Given the description of an element on the screen output the (x, y) to click on. 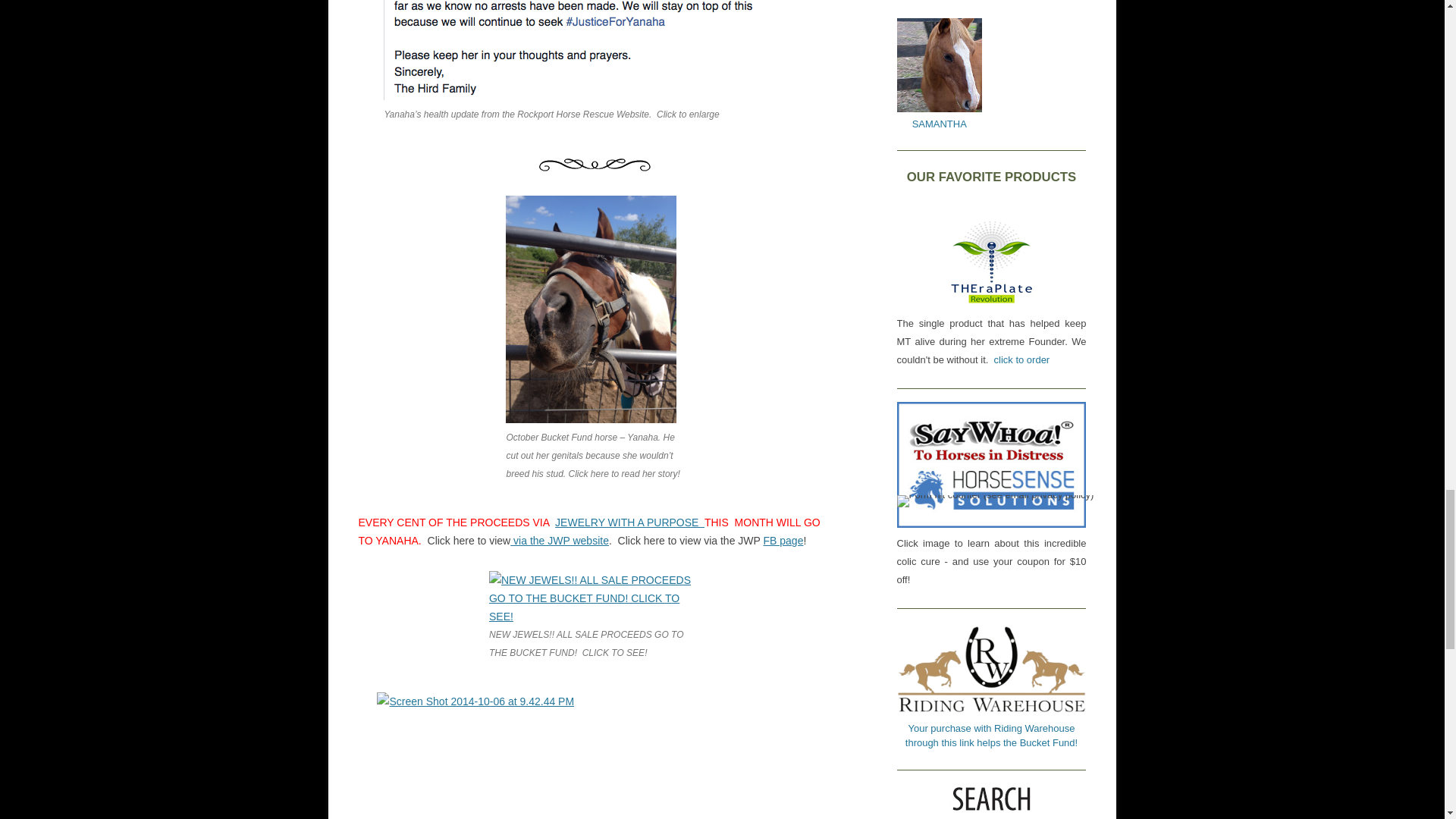
FB page (782, 540)
JEWELRY WITH A PURPOSE  (629, 522)
via the JWP website (559, 540)
